Given the description of an element on the screen output the (x, y) to click on. 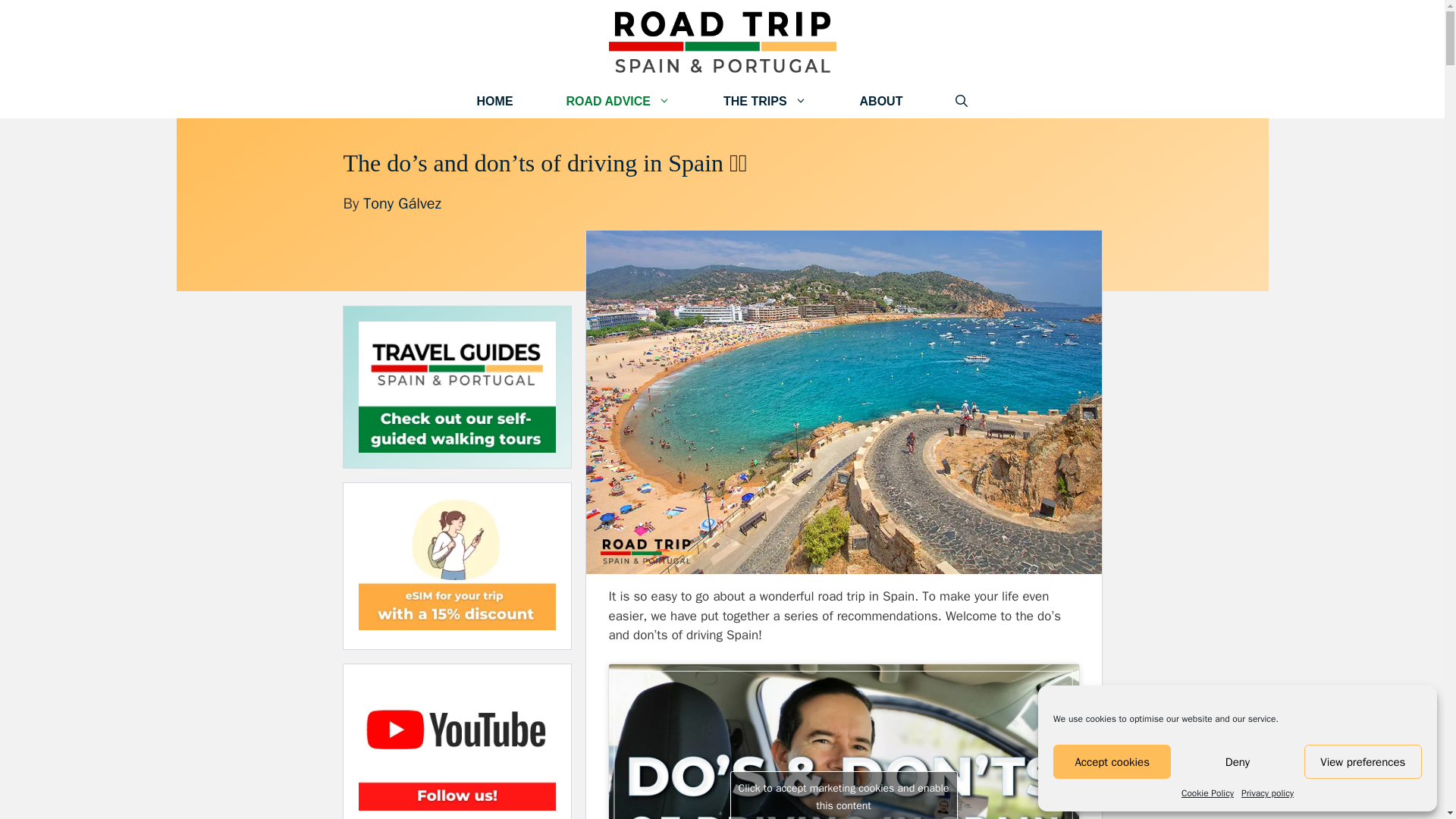
Deny (1236, 761)
Accept cookies (1111, 761)
HOME (494, 100)
Privacy policy (1267, 793)
View preferences (1363, 761)
Cookie Policy (1206, 793)
